Given the description of an element on the screen output the (x, y) to click on. 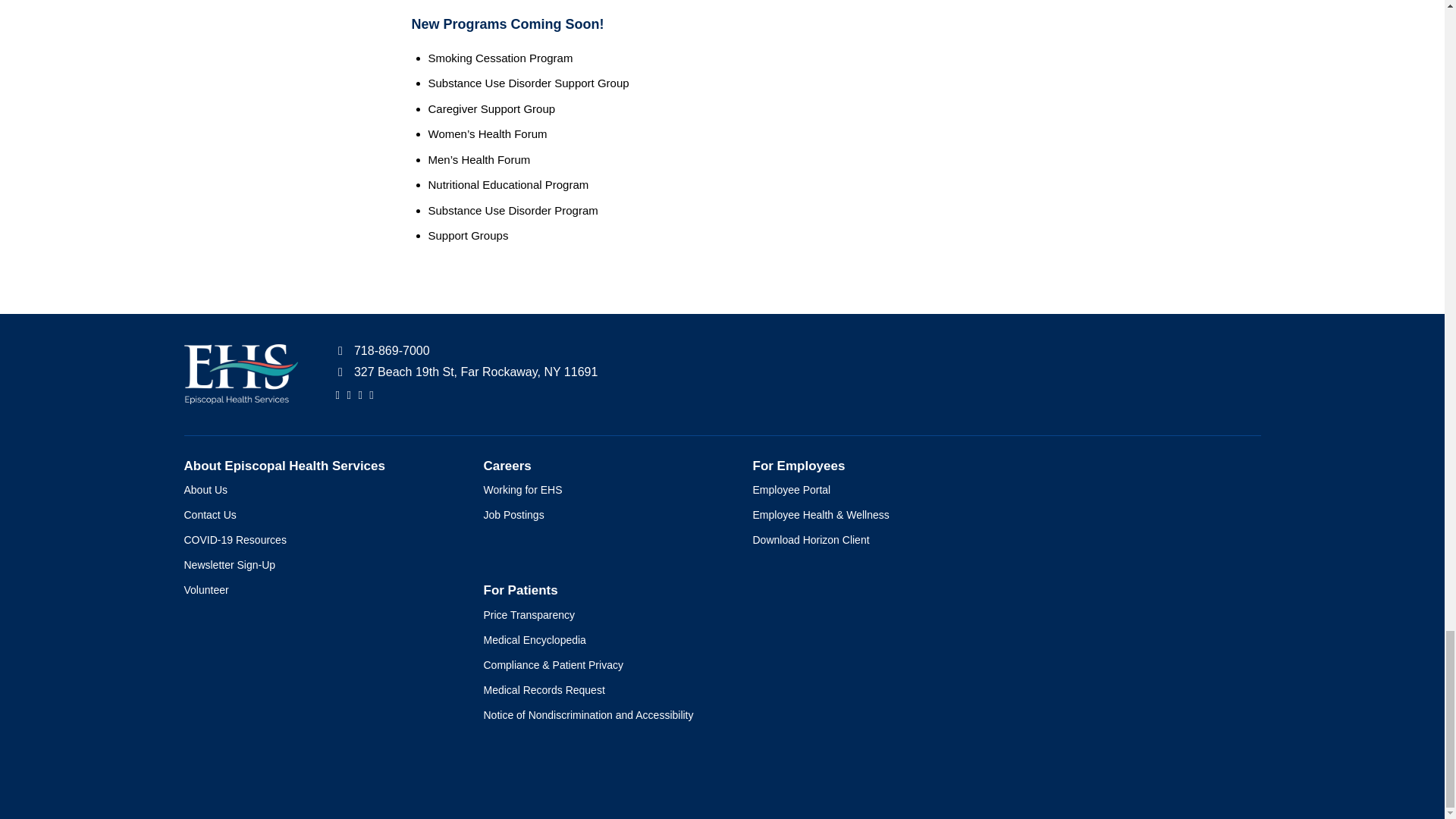
COVID-19 Resources (317, 539)
Volunteer (317, 590)
About Us (317, 489)
Contact Us (317, 514)
Working for EHS (602, 489)
Newsletter Sign-Up (317, 565)
Back to ehs.org homepage (240, 377)
